Given the description of an element on the screen output the (x, y) to click on. 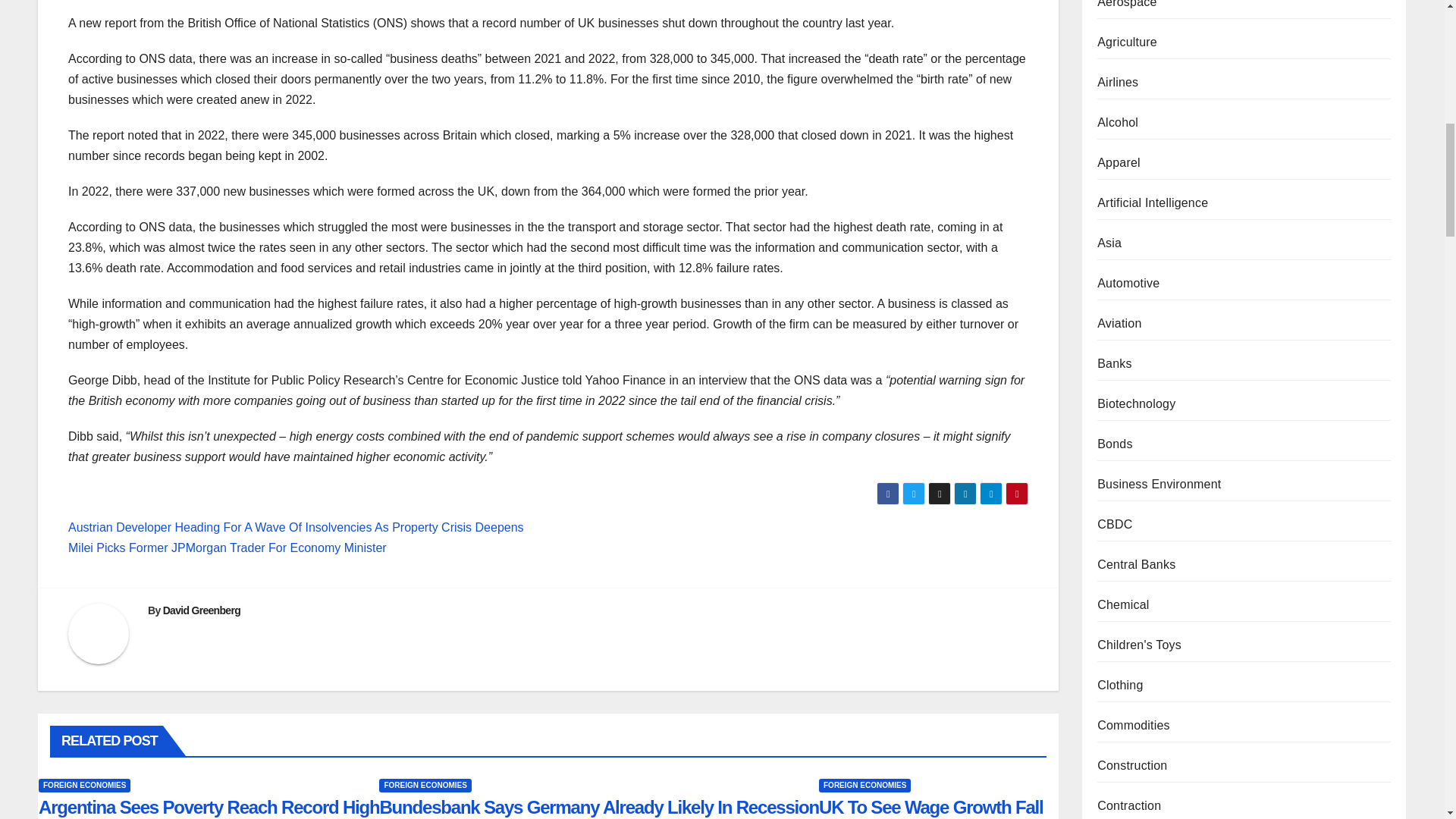
FOREIGN ECONOMIES (424, 785)
FOREIGN ECONOMIES (85, 785)
UK To See Wage Growth Fall (930, 806)
Bundesbank Says Germany Already Likely In Recession (598, 806)
Milei Picks Former JPMorgan Trader For Economy Minister (227, 547)
Permalink to: Argentina Sees Poverty Reach Record High (208, 806)
David Greenberg (201, 610)
Argentina Sees Poverty Reach Record High (208, 806)
Permalink to: UK To See Wage Growth Fall (930, 806)
FOREIGN ECONOMIES (864, 785)
